Given the description of an element on the screen output the (x, y) to click on. 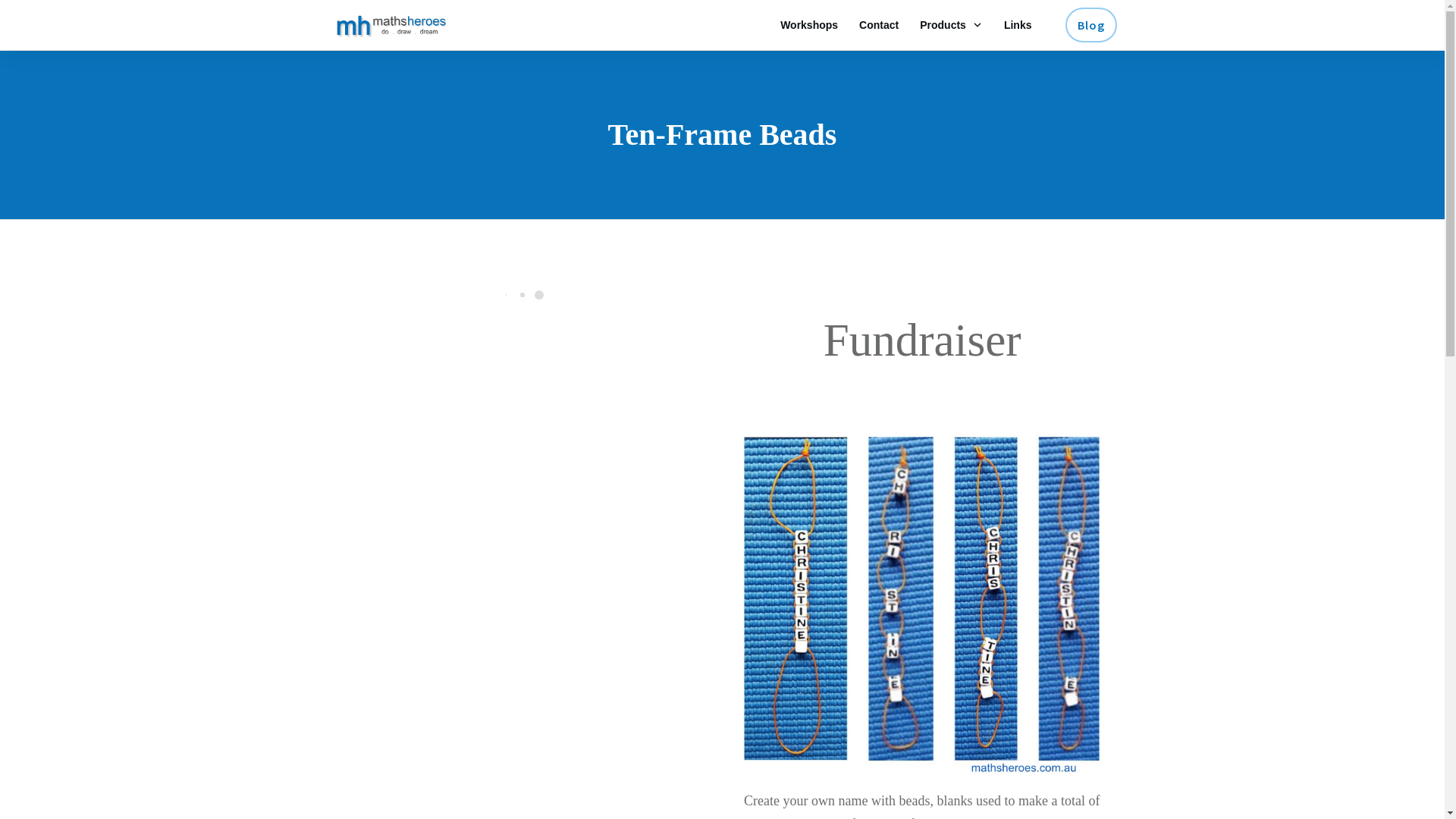
Blog Element type: text (1090, 24)
Ten-Frame Beads640 Element type: hover (922, 593)
Links Element type: text (1018, 24)
Products Element type: text (950, 24)
Contact Element type: text (878, 24)
Workshops Element type: text (808, 24)
